Given the description of an element on the screen output the (x, y) to click on. 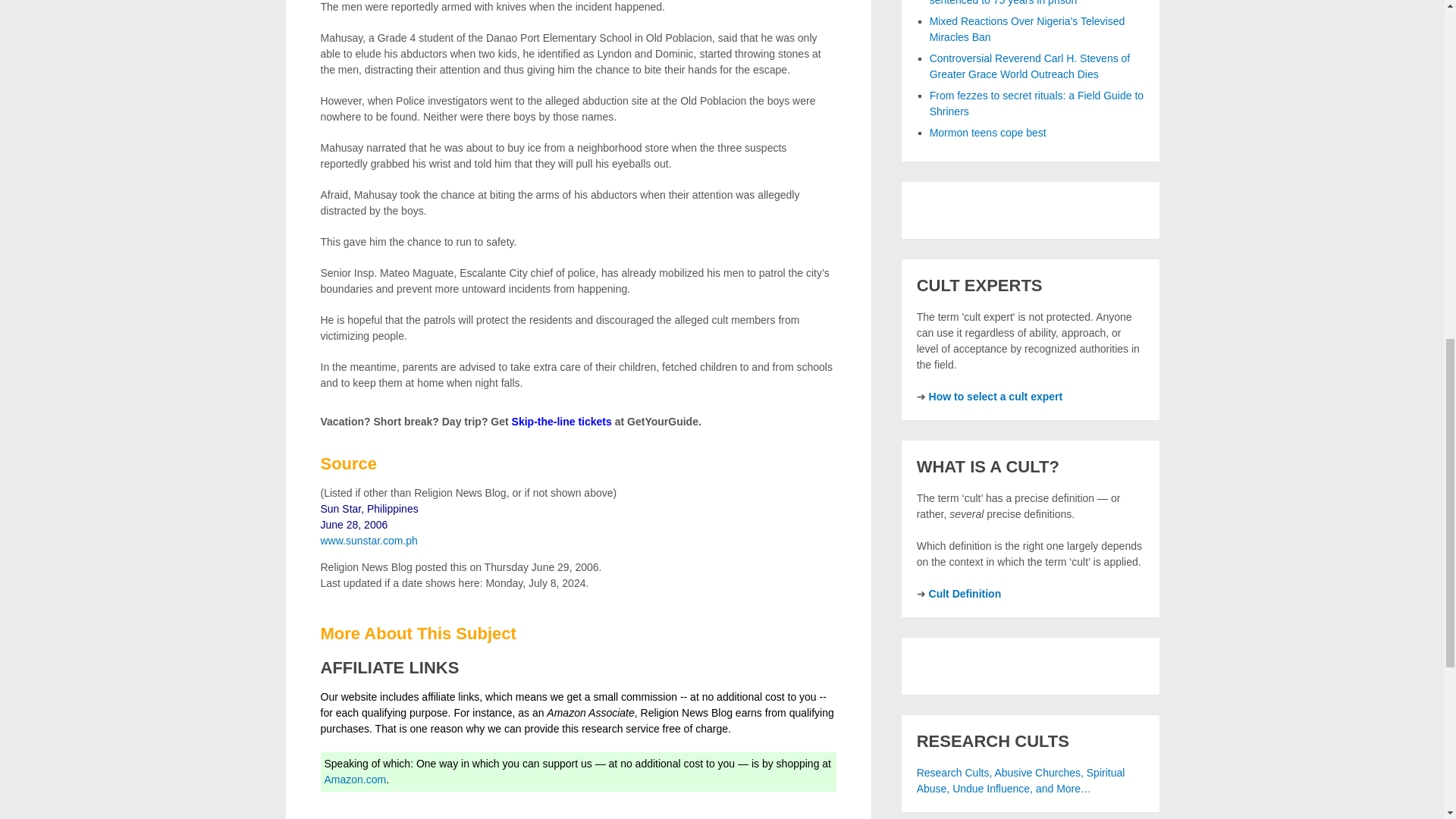
Skip-the-line tickets (561, 421)
www.sunstar.com.ph (368, 540)
How to select a cult expert (995, 396)
From fezzes to secret rituals: a Field Guide to Shriners (1036, 103)
Cult Definition (964, 593)
Mixed Reactions Over Nigeria's Televised Miracles Ban (1027, 29)
Amazon.com (355, 779)
Mormon teens cope best (988, 132)
